Given the description of an element on the screen output the (x, y) to click on. 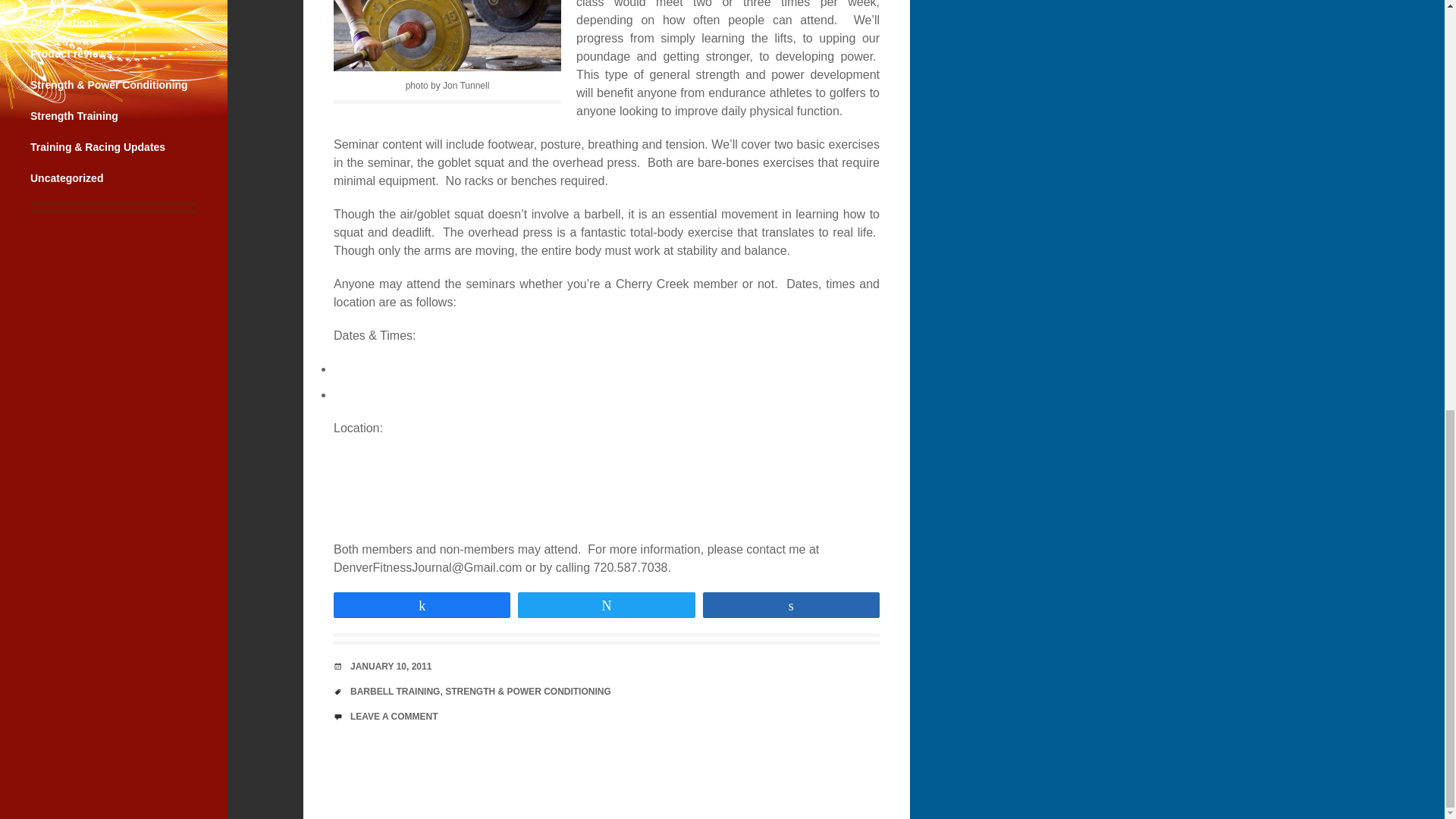
Product reviews (71, 53)
Uncategorized (66, 177)
4:13 pm (390, 665)
barbell training (446, 35)
Strength Training (73, 115)
Observations (63, 22)
